Given the description of an element on the screen output the (x, y) to click on. 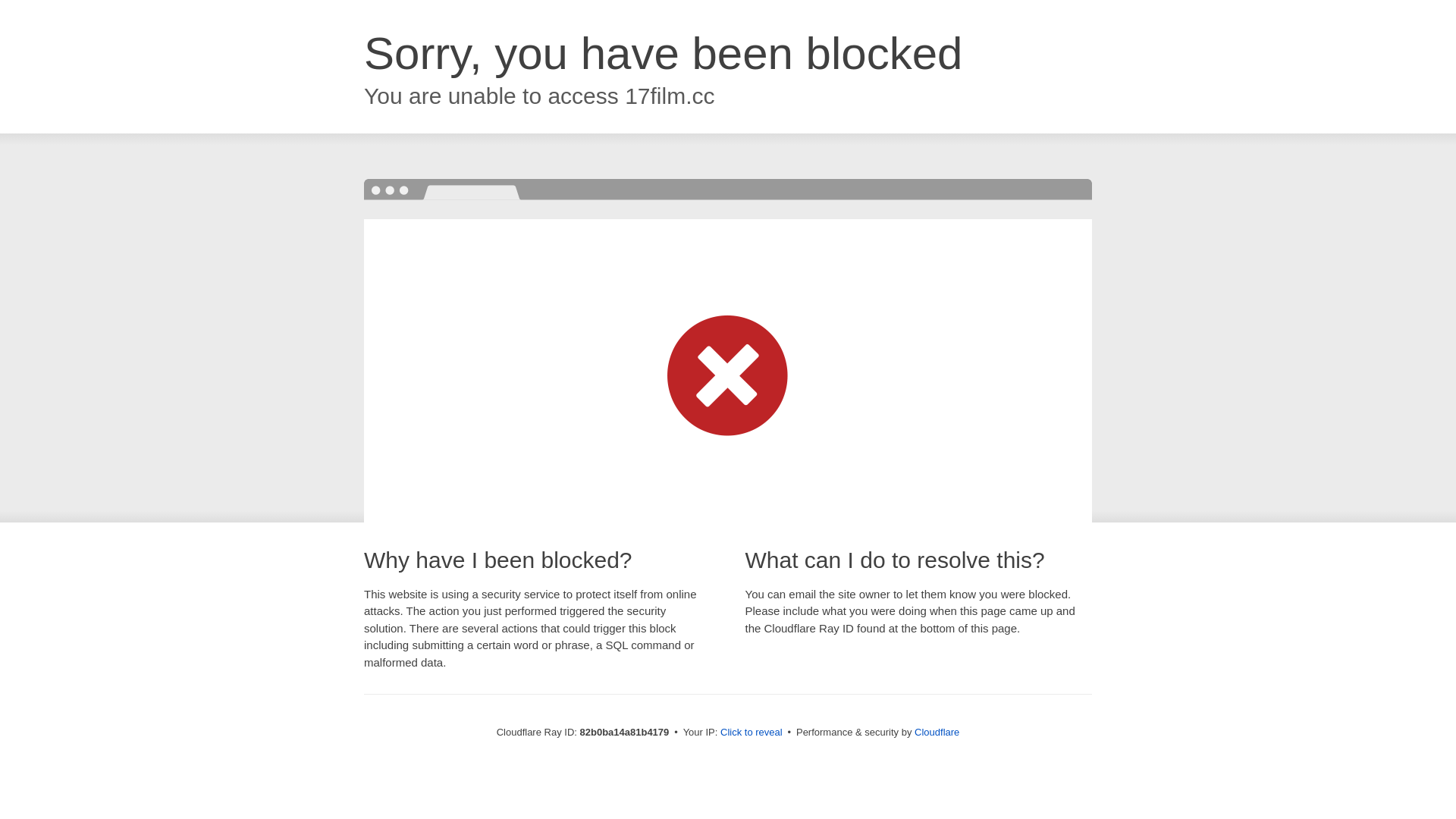
Click to reveal Element type: text (751, 732)
Cloudflare Element type: text (936, 731)
